Given the description of an element on the screen output the (x, y) to click on. 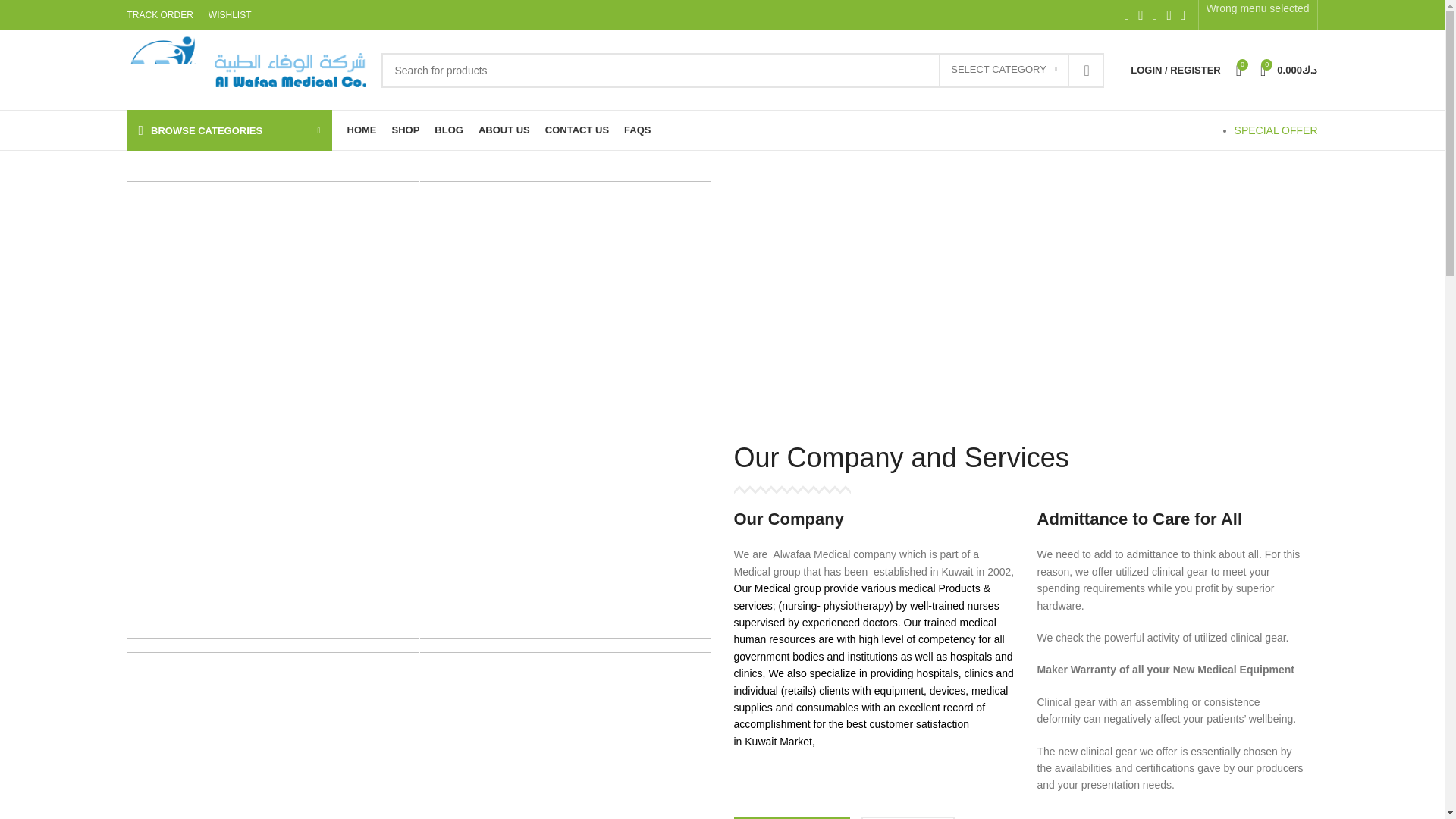
SELECT CATEGORY (1003, 70)
Search for products (742, 70)
SEARCH (1085, 70)
SELECT CATEGORY (1003, 70)
TRACK ORDER (160, 15)
Shopping cart (1288, 69)
My account (1174, 69)
WISHLIST (229, 15)
Log in (1095, 391)
